Given the description of an element on the screen output the (x, y) to click on. 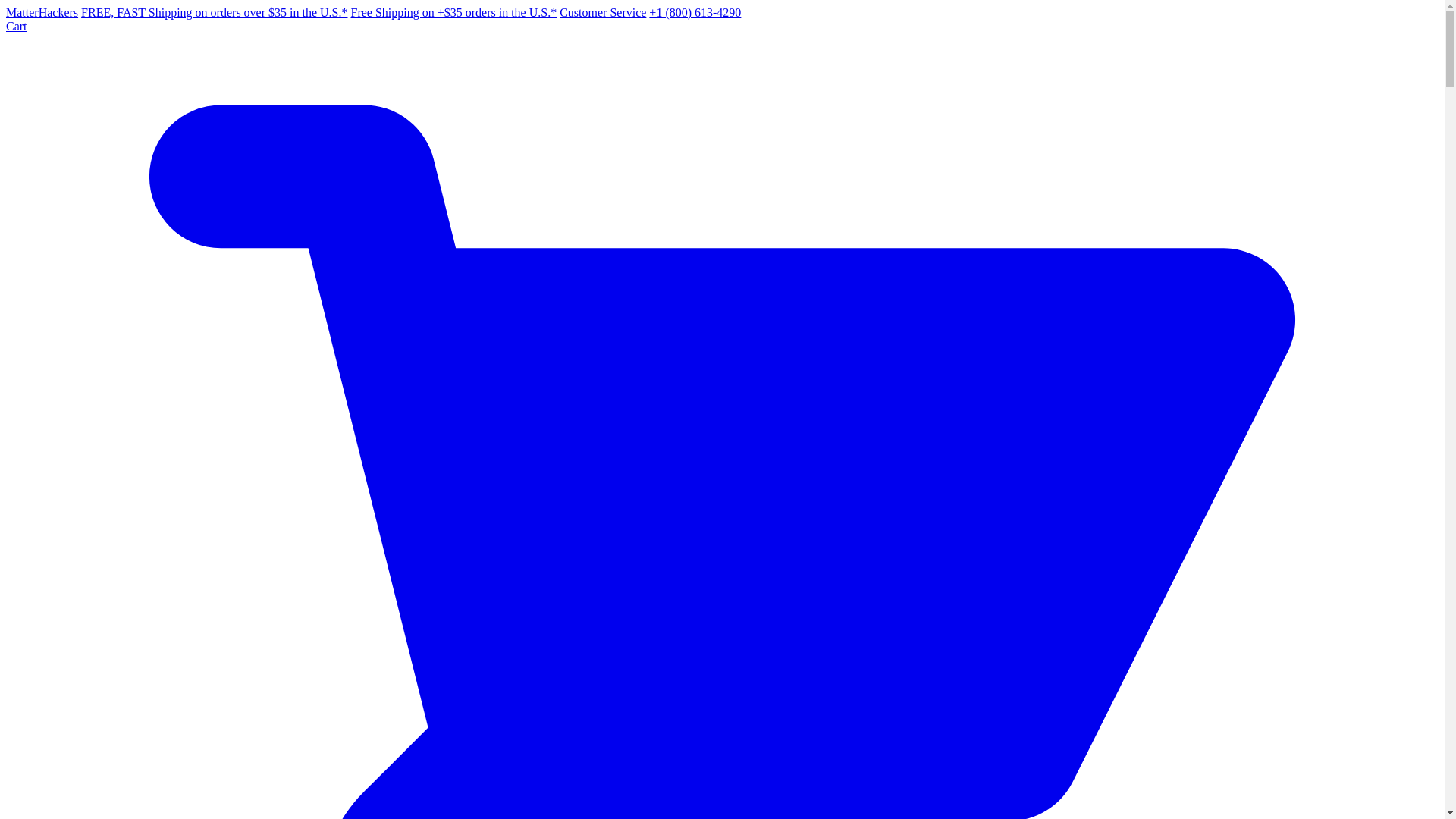
MatterHackers (41, 11)
Customer Service (602, 11)
